Given the description of an element on the screen output the (x, y) to click on. 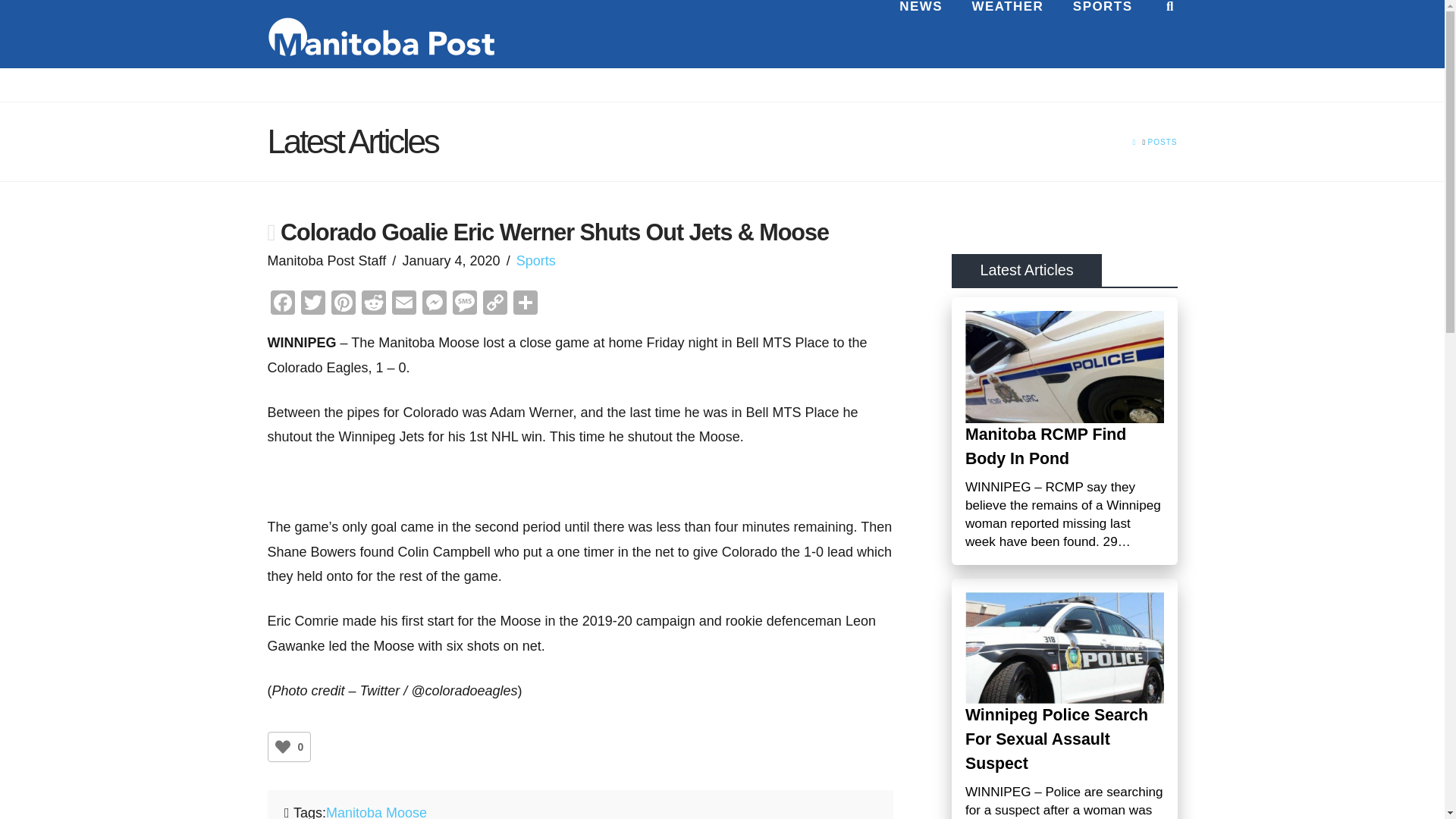
Email (403, 304)
Email (403, 304)
Facebook (281, 304)
Message (463, 304)
Copy Link (494, 304)
Messenger (433, 304)
SPORTS (1102, 33)
Twitter (312, 304)
Copy Link (494, 304)
Facebook (281, 304)
